Given the description of an element on the screen output the (x, y) to click on. 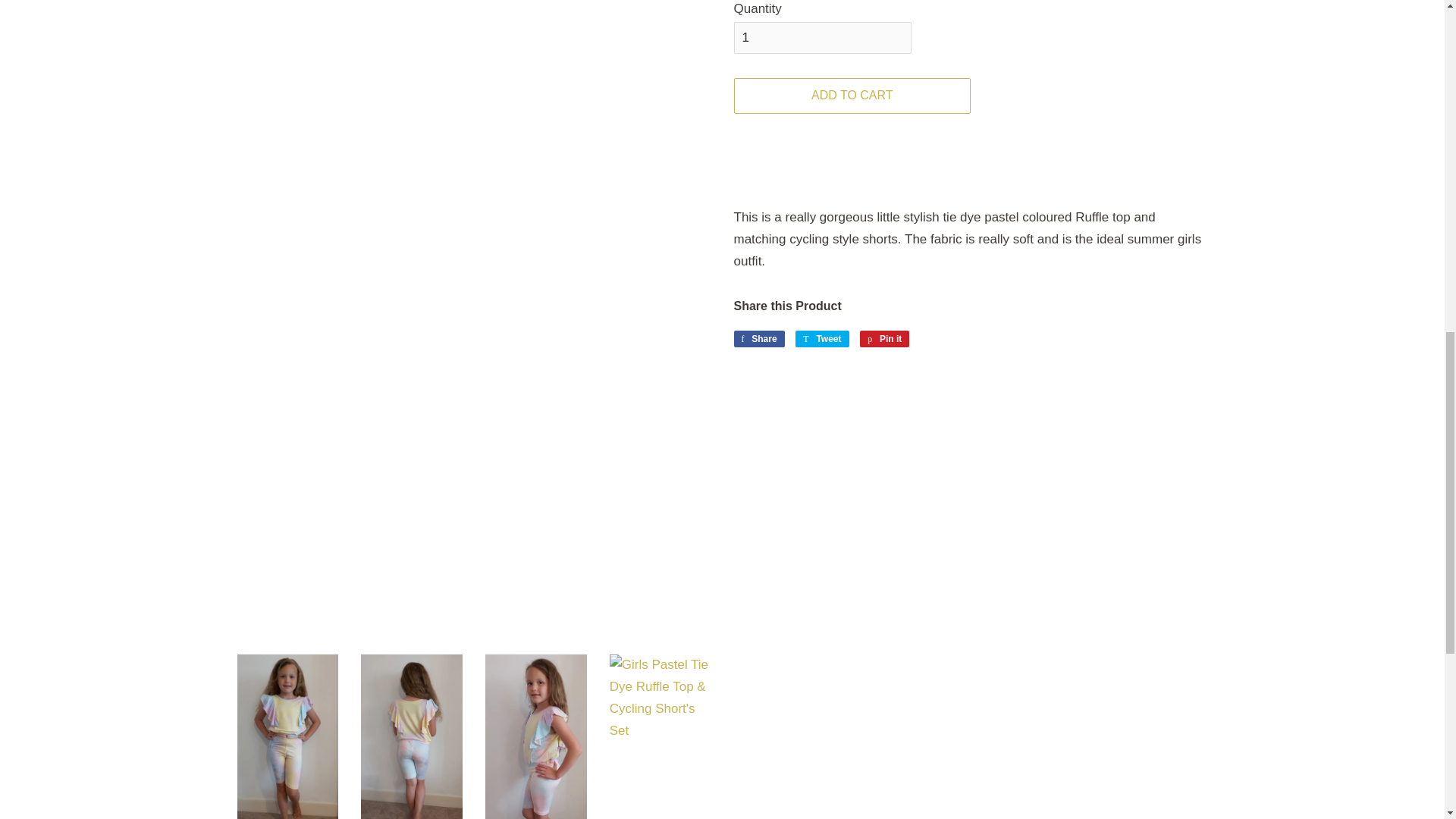
Pin on Pinterest (884, 338)
1 (822, 38)
Share on Facebook (758, 338)
Tweet on Twitter (821, 338)
